Given the description of an element on the screen output the (x, y) to click on. 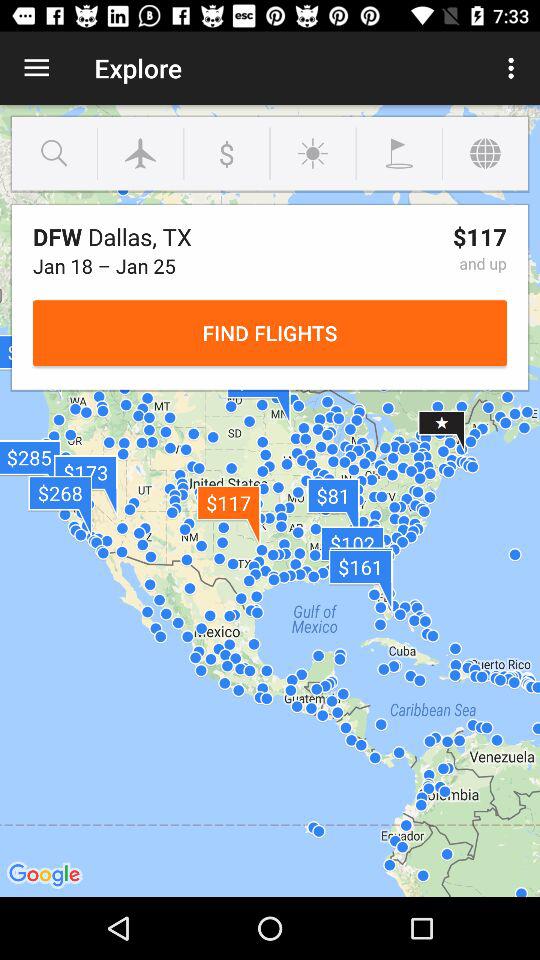
press find flights (270, 332)
